Given the description of an element on the screen output the (x, y) to click on. 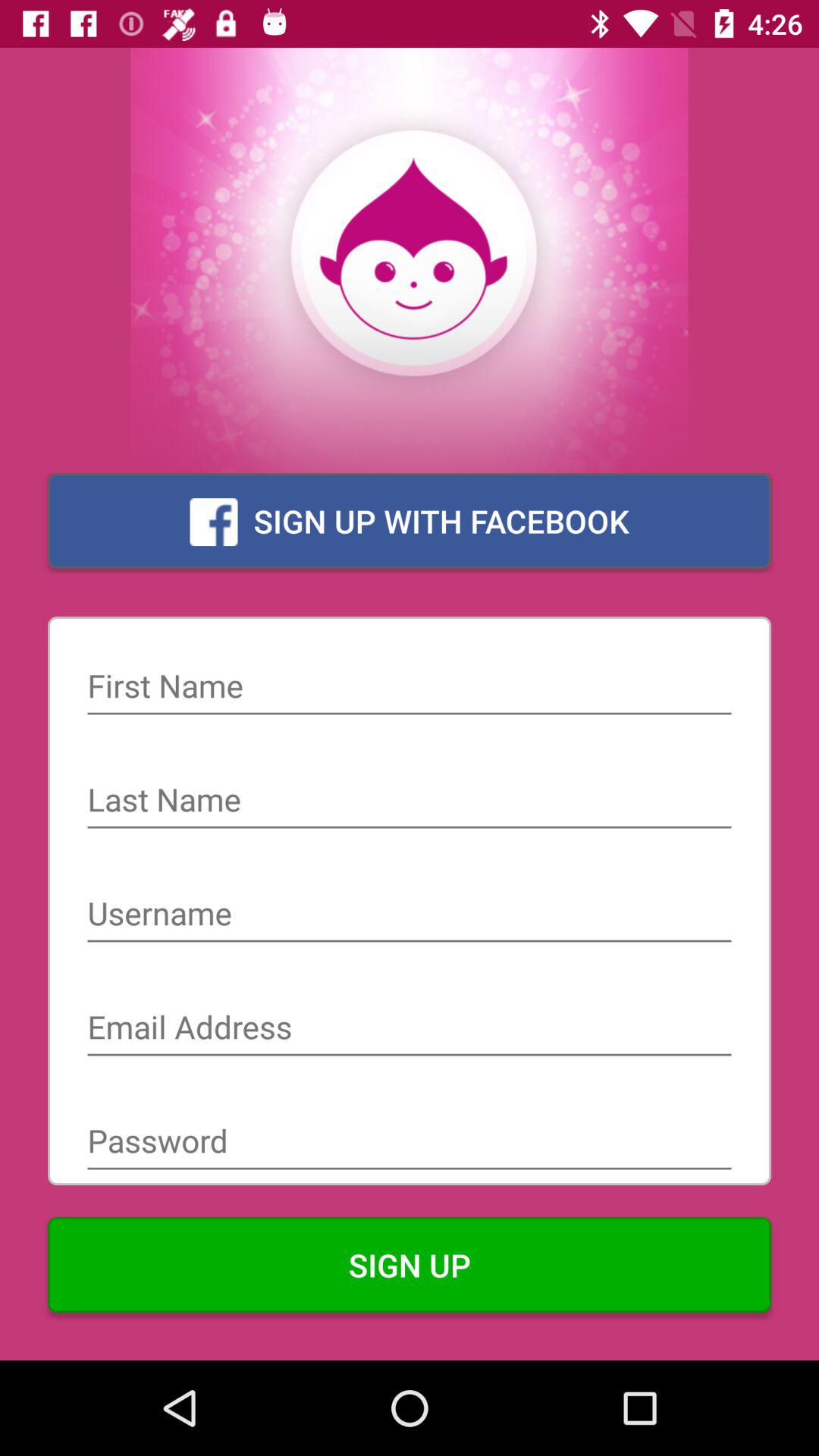
enter your email (409, 1028)
